Given the description of an element on the screen output the (x, y) to click on. 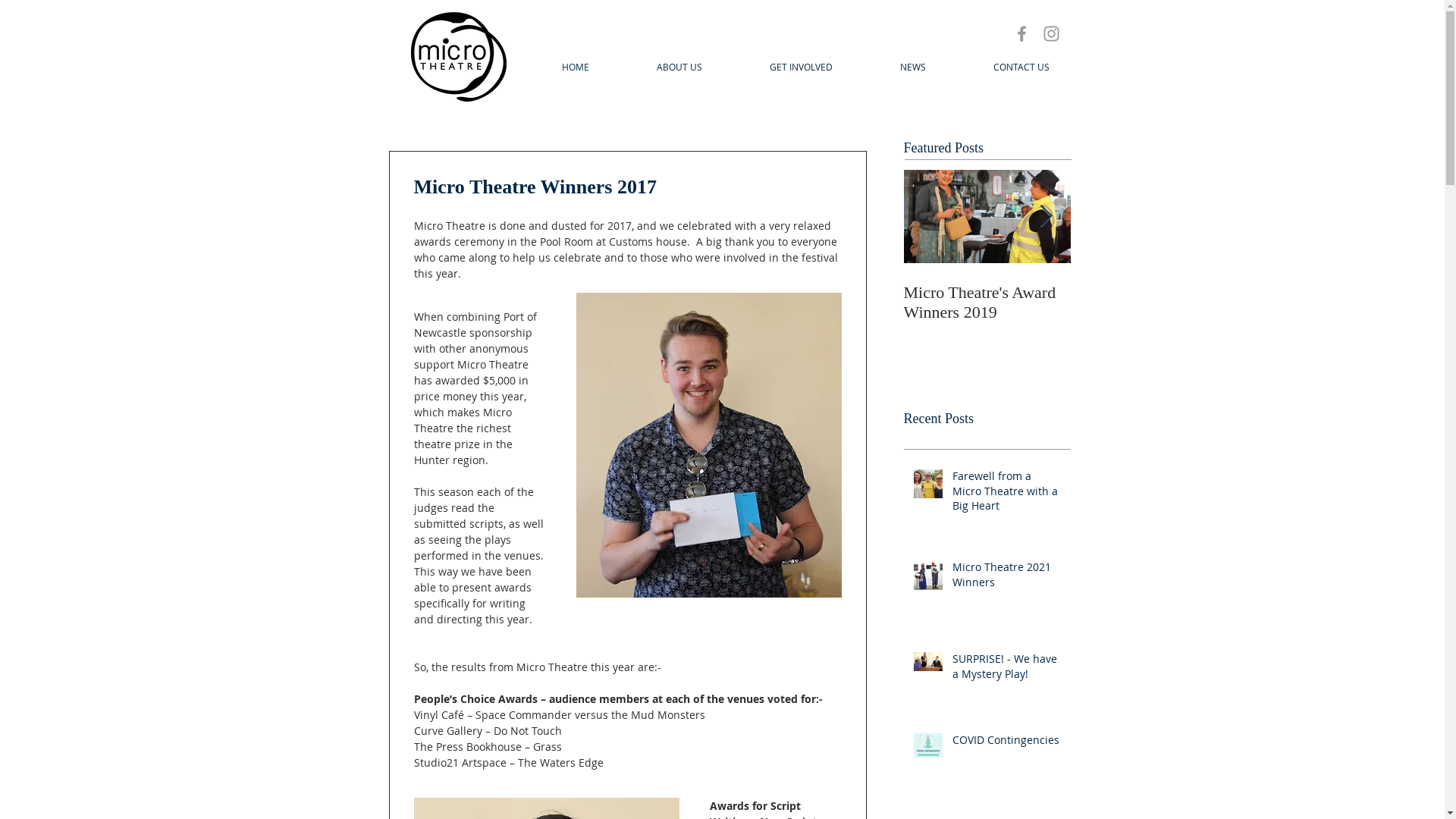
ABOUT US Element type: text (679, 67)
CONTACT US Element type: text (1021, 67)
GET INVOLVED Element type: text (800, 67)
Farewell from a Micro Theatre with a Big Heart Element type: text (1006, 493)
The Micro Challenge for 2019 - Bravery Award Element type: text (1320, 302)
COVID Contingencies Element type: text (1006, 742)
NEWS Element type: text (912, 67)
HOME Element type: text (574, 67)
Micro Theatre's Award Winners 2019 Element type: text (986, 302)
SURPRISE! - We have a Mystery Play! Element type: text (1006, 669)
Micro Theatre Program 2019 Element type: text (1153, 302)
Micro Theatre 2021 Winners Element type: text (1006, 577)
